Given the description of an element on the screen output the (x, y) to click on. 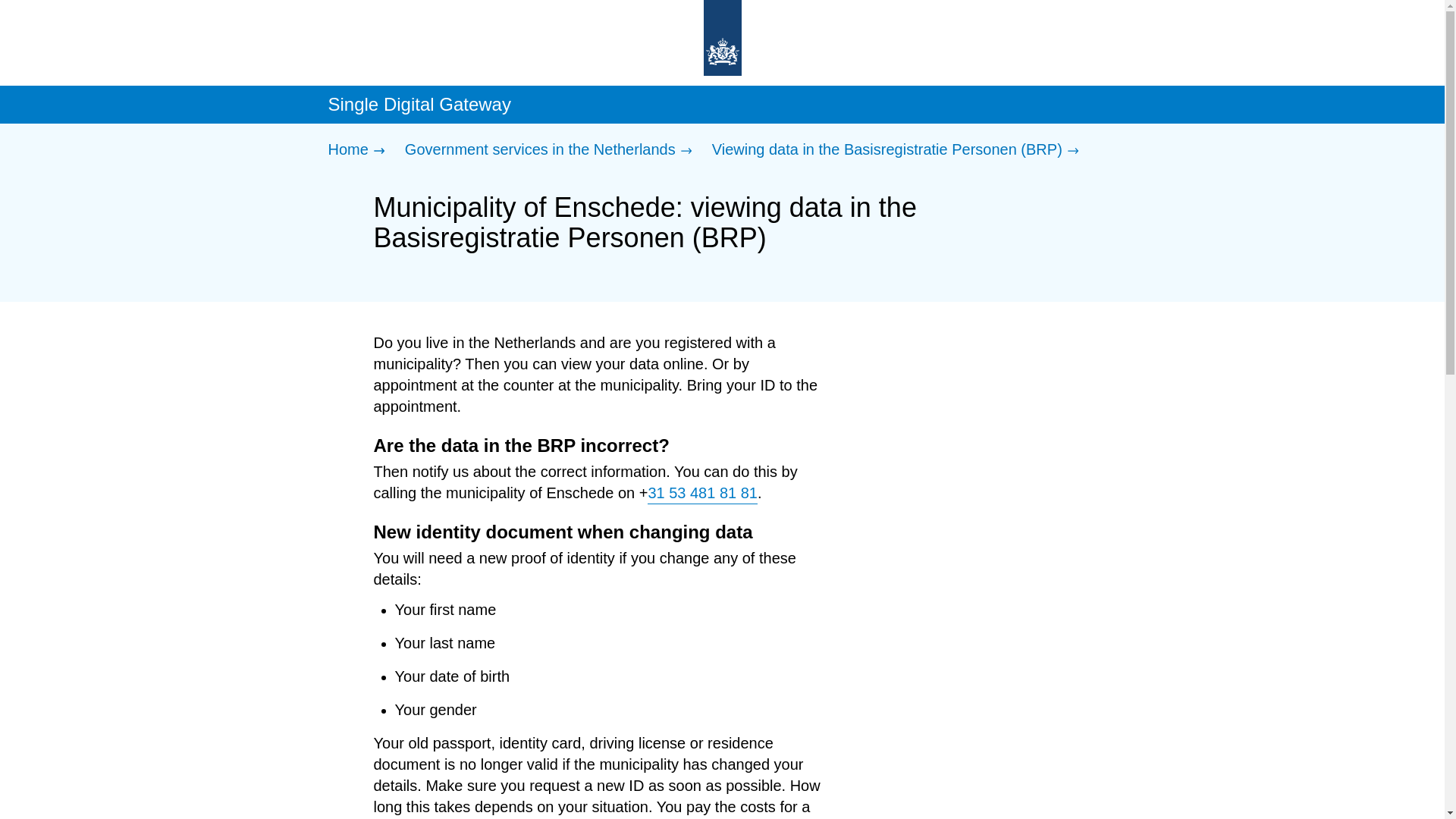
Government services in the Netherlands (552, 150)
To the homepage of sdg.government.nl (722, 38)
Home (359, 150)
31 53 481 81 81 (702, 494)
